Given the description of an element on the screen output the (x, y) to click on. 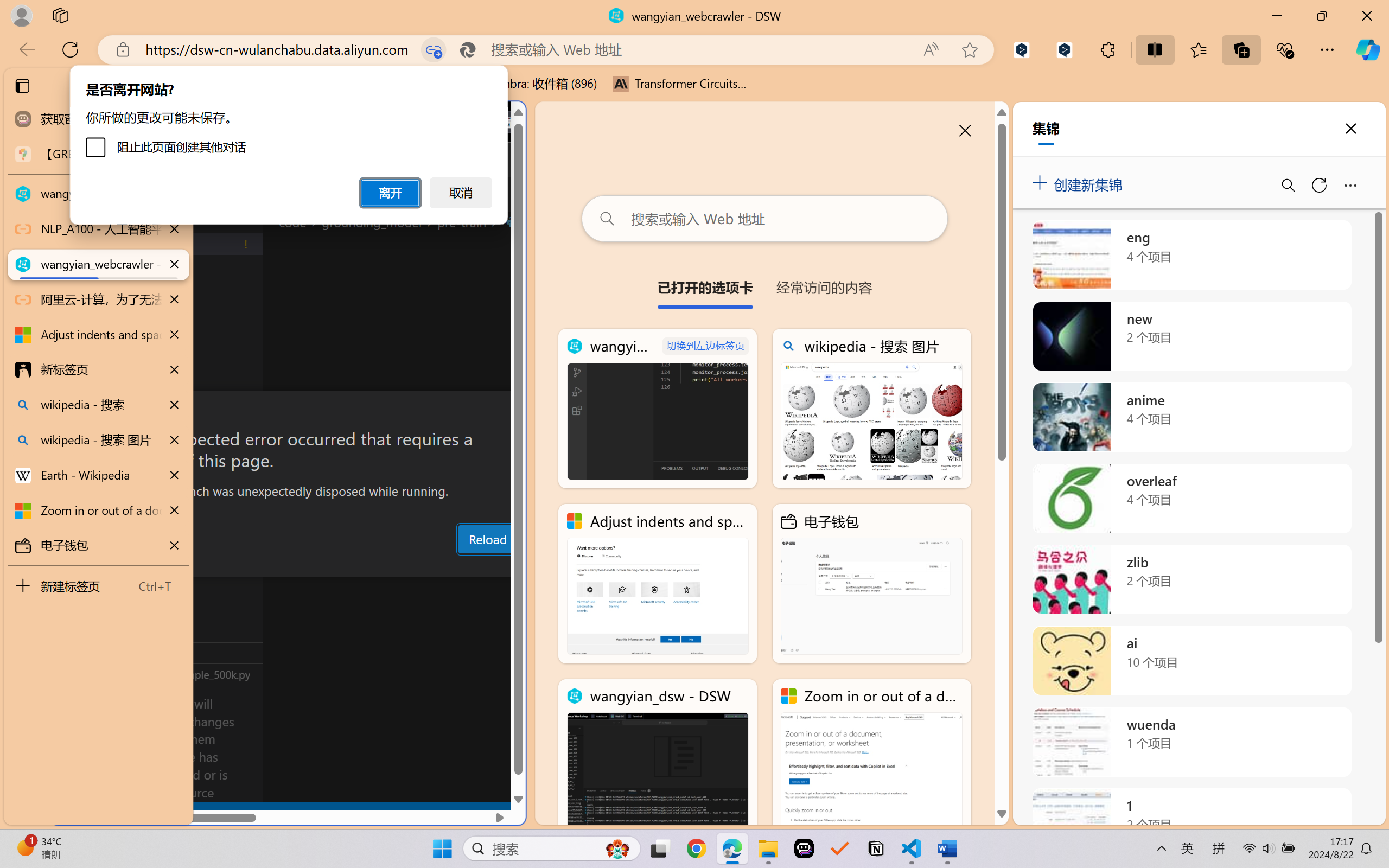
Debug Console (Ctrl+Shift+Y) (463, 565)
